Given the description of an element on the screen output the (x, y) to click on. 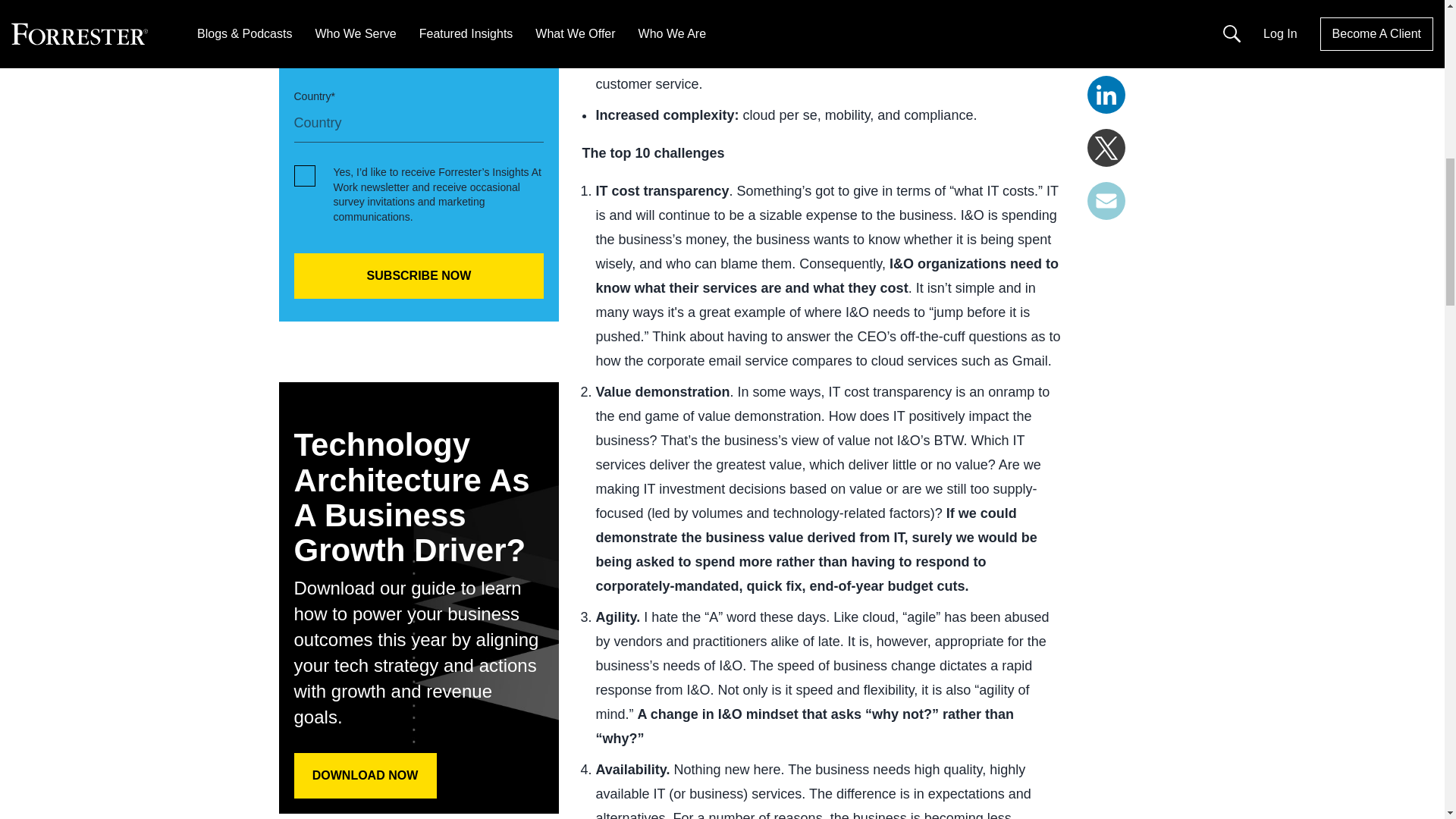
Subscribe Now (419, 275)
